Given the description of an element on the screen output the (x, y) to click on. 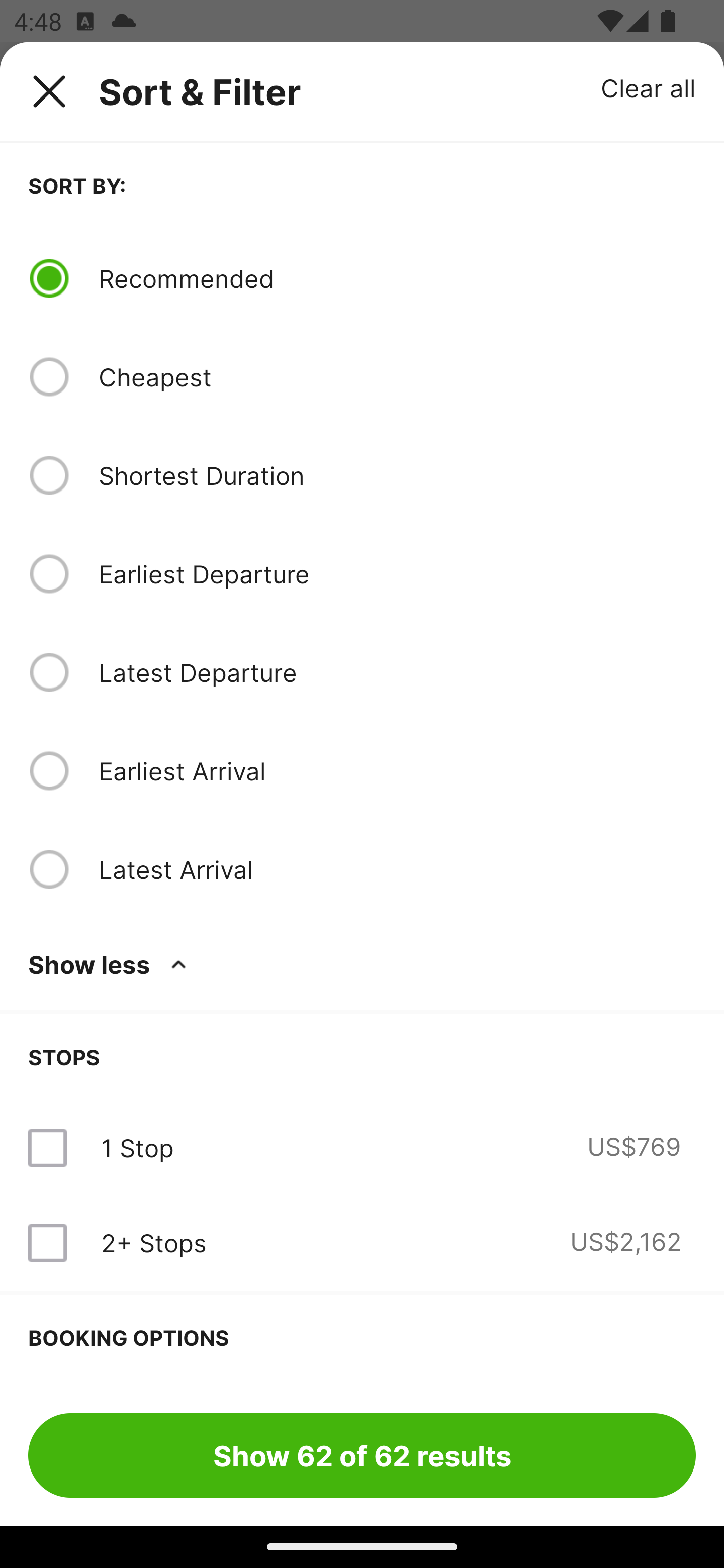
Clear all (648, 87)
Recommended  (396, 278)
Cheapest (396, 377)
Shortest Duration (396, 474)
Earliest Departure (396, 573)
Latest Departure (396, 672)
Earliest Arrival (396, 770)
Latest Arrival (396, 869)
Show less (110, 964)
1 Stop US$769 (362, 1147)
1 Stop (136, 1147)
2+ Stops US$2,162 (362, 1242)
2+ Stops (153, 1242)
Show 62 of 62 results (361, 1454)
